Given the description of an element on the screen output the (x, y) to click on. 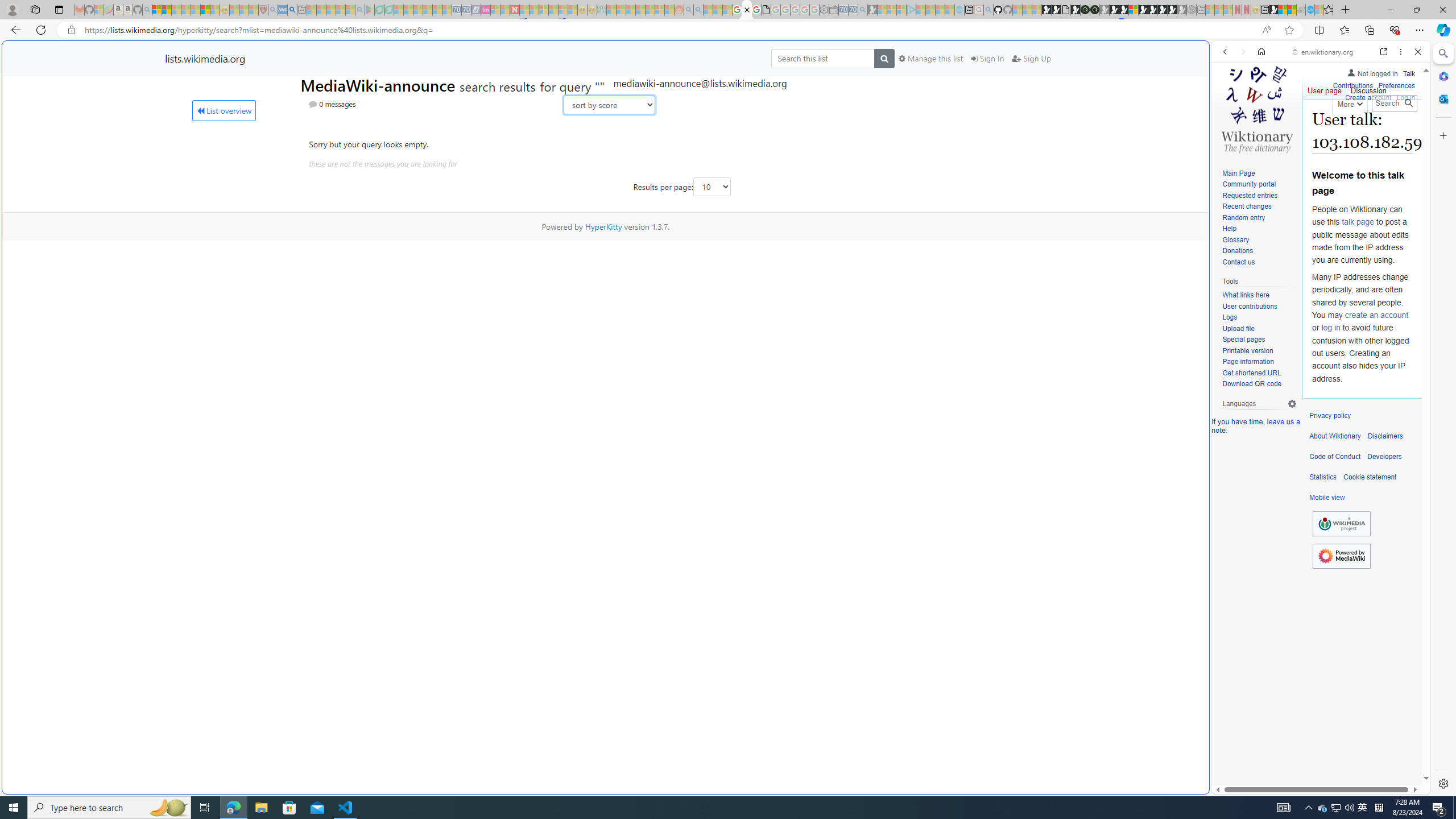
Random entry (1259, 218)
Get shortened URL (1251, 372)
Community portal (1248, 184)
Search this list (822, 58)
Mobile view (1326, 497)
Create account (1367, 96)
Log in (1405, 98)
